Given the description of an element on the screen output the (x, y) to click on. 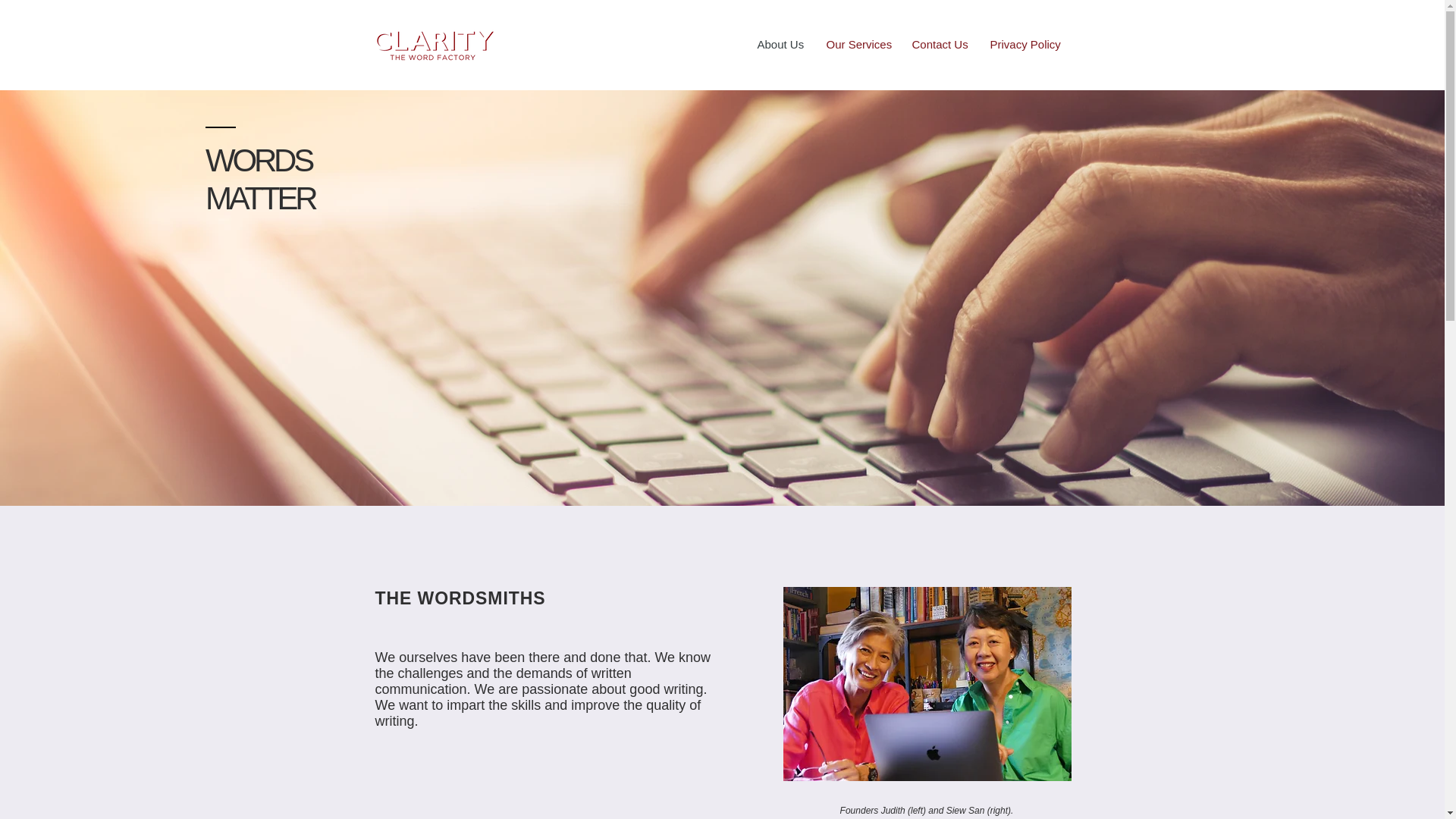
Privacy Policy (1024, 44)
Our Services (856, 44)
Contact Us (939, 44)
About Us (780, 44)
